Given the description of an element on the screen output the (x, y) to click on. 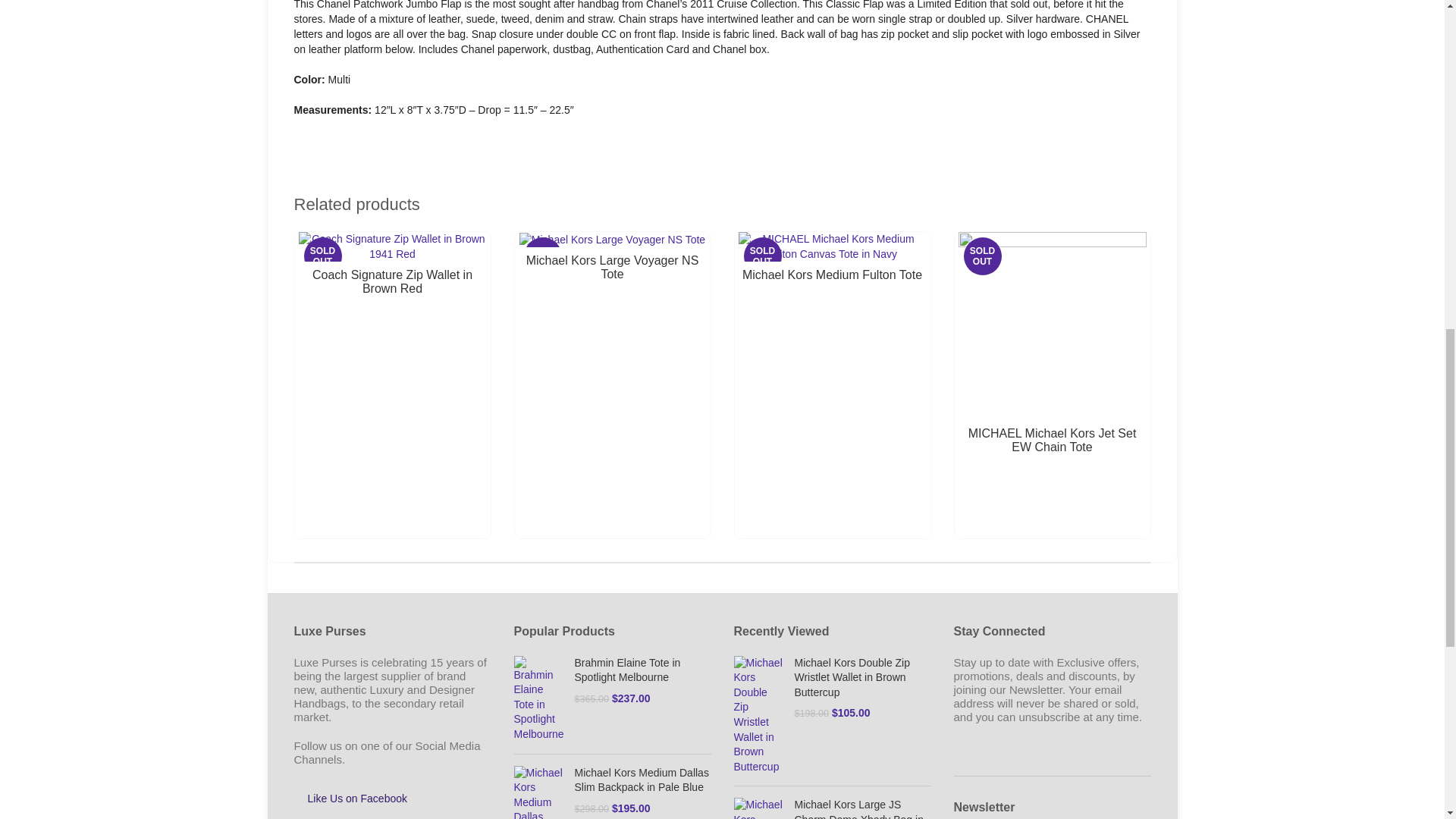
Michael Kors Medium Dallas Slim Backpack in Pale Blue (643, 780)
Brahmin Elaine Tote in Spotlight Melbourne (643, 670)
Michael Kors Medium Dallas Slim Backpack in Pale Blue (538, 792)
